Given the description of an element on the screen output the (x, y) to click on. 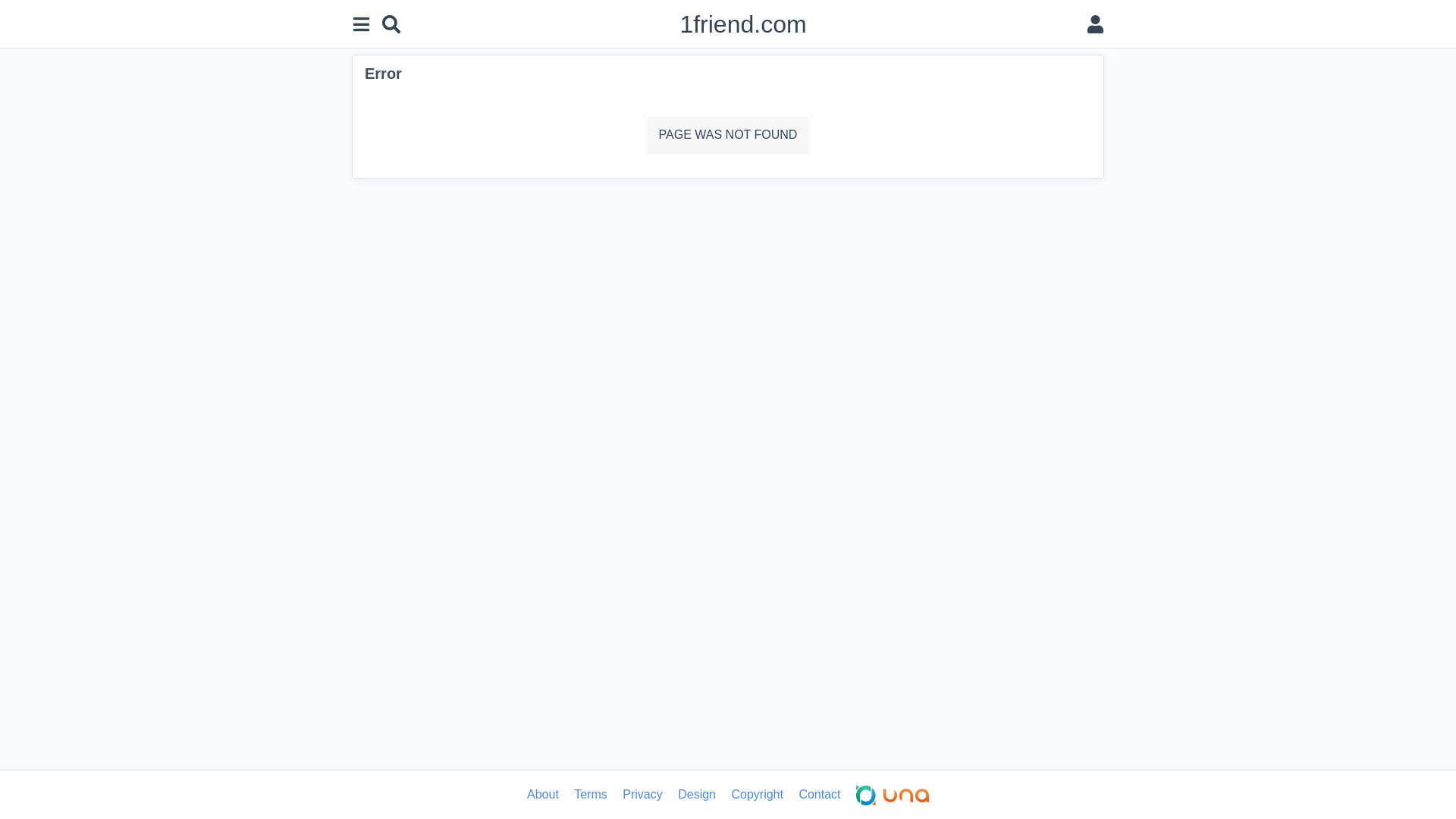
Copyright Element type: text (756, 794)
1friend.com Element type: text (742, 24)
Terms Element type: text (590, 794)
Privacy Element type: text (642, 794)
Design Element type: text (696, 794)
Contact Element type: text (819, 794)
Powered by UNA Community Management System Element type: hover (892, 794)
About Element type: text (542, 794)
Powered by UNA Community Management System Element type: hover (892, 795)
